Given the description of an element on the screen output the (x, y) to click on. 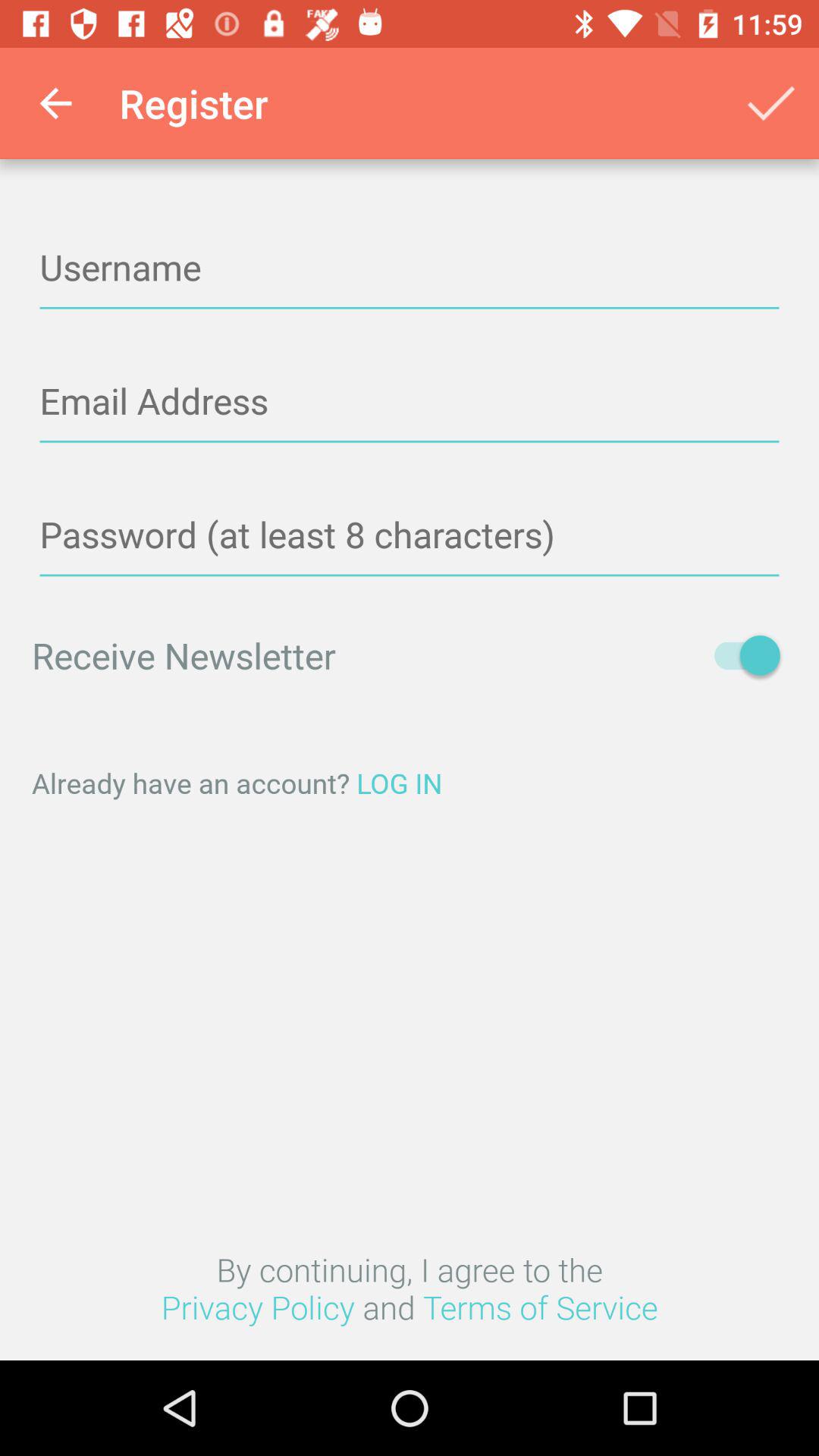
tap by continuing i item (409, 1287)
